Given the description of an element on the screen output the (x, y) to click on. 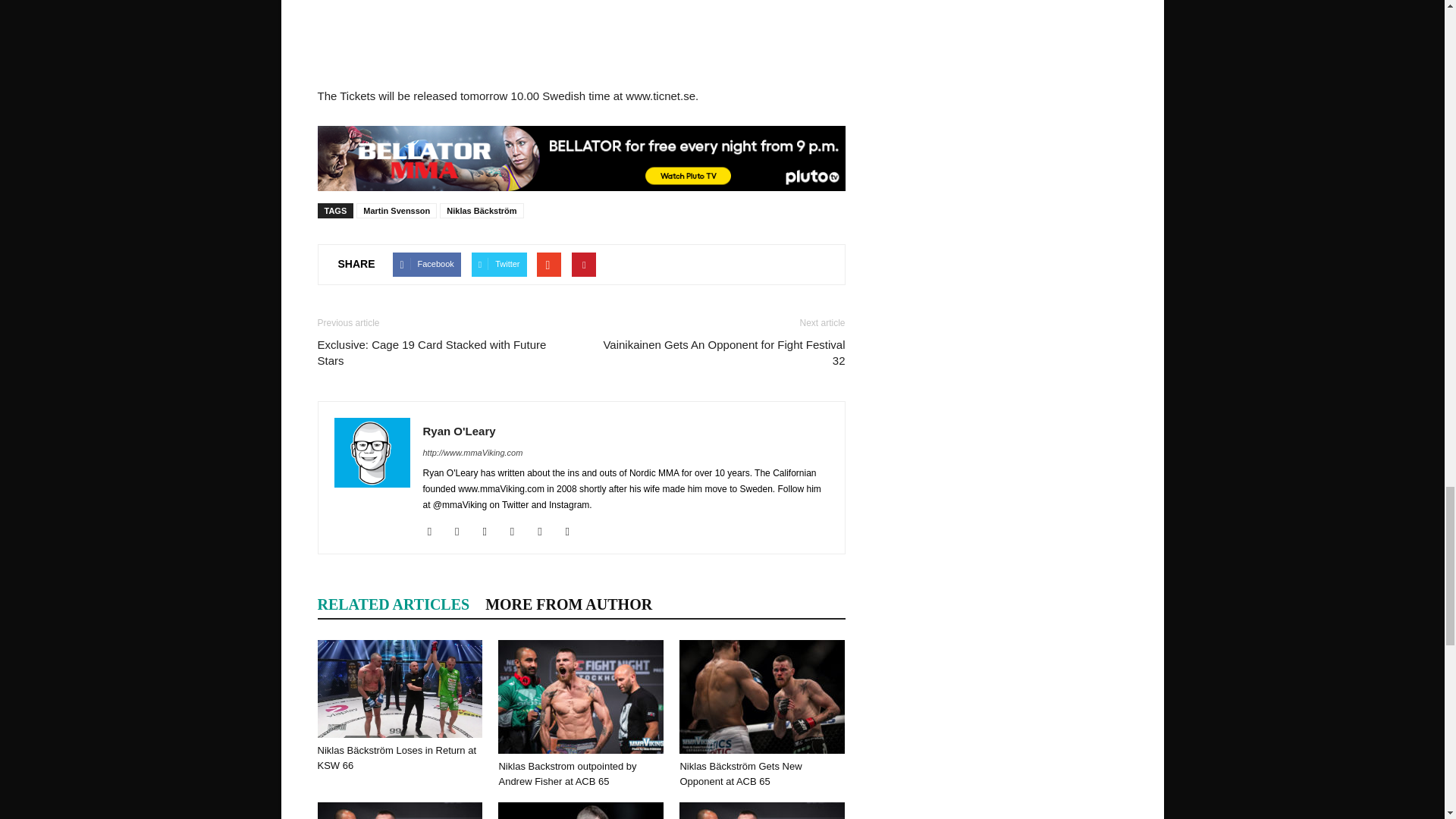
Flickr (462, 531)
Linkedin (518, 531)
Youtube (572, 531)
Facebook (435, 531)
Twitter (544, 531)
Instagram (489, 531)
